Given the description of an element on the screen output the (x, y) to click on. 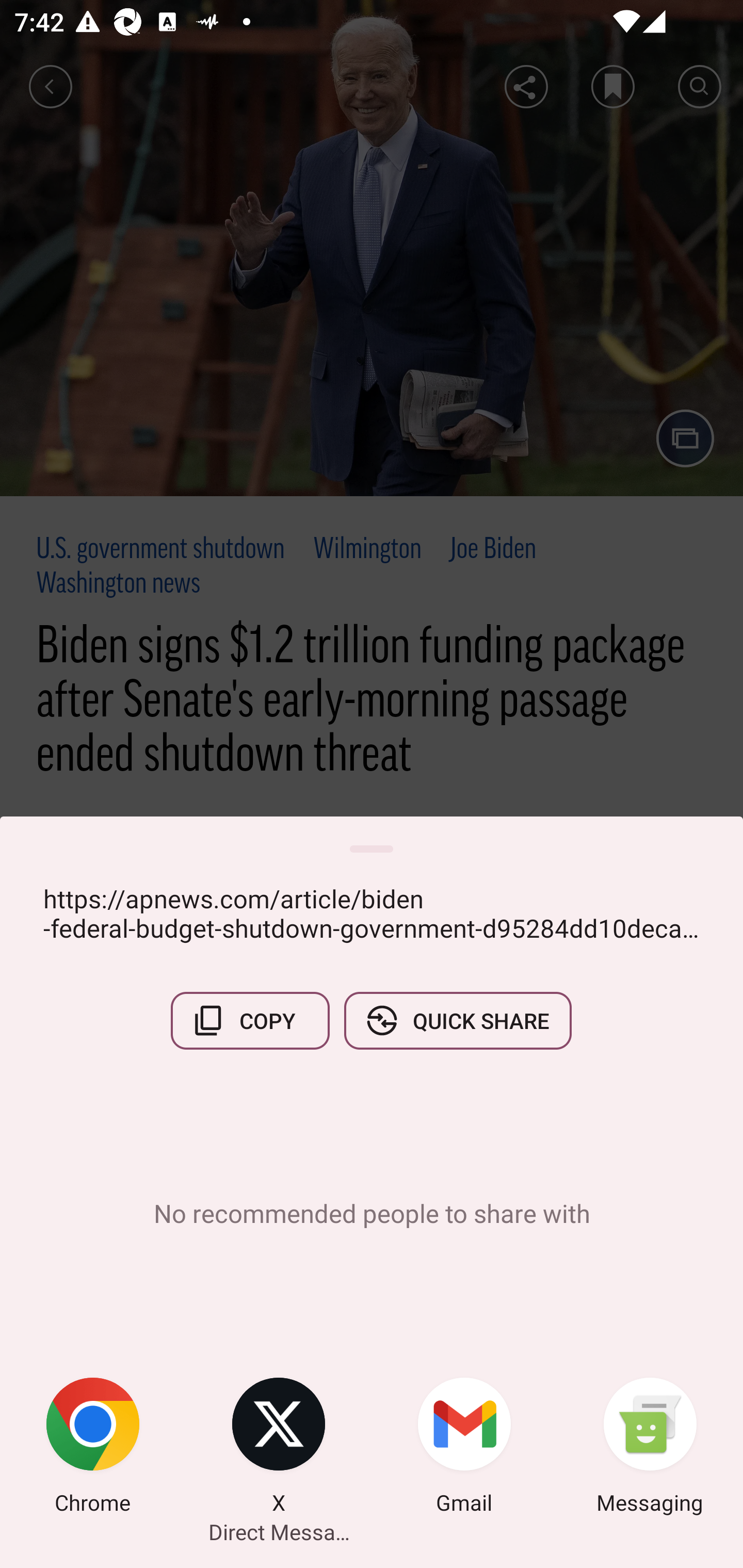
COPY (249, 1020)
QUICK SHARE (457, 1020)
Chrome (92, 1448)
X Direct Message (278, 1448)
Gmail (464, 1448)
Messaging (650, 1448)
